Given the description of an element on the screen output the (x, y) to click on. 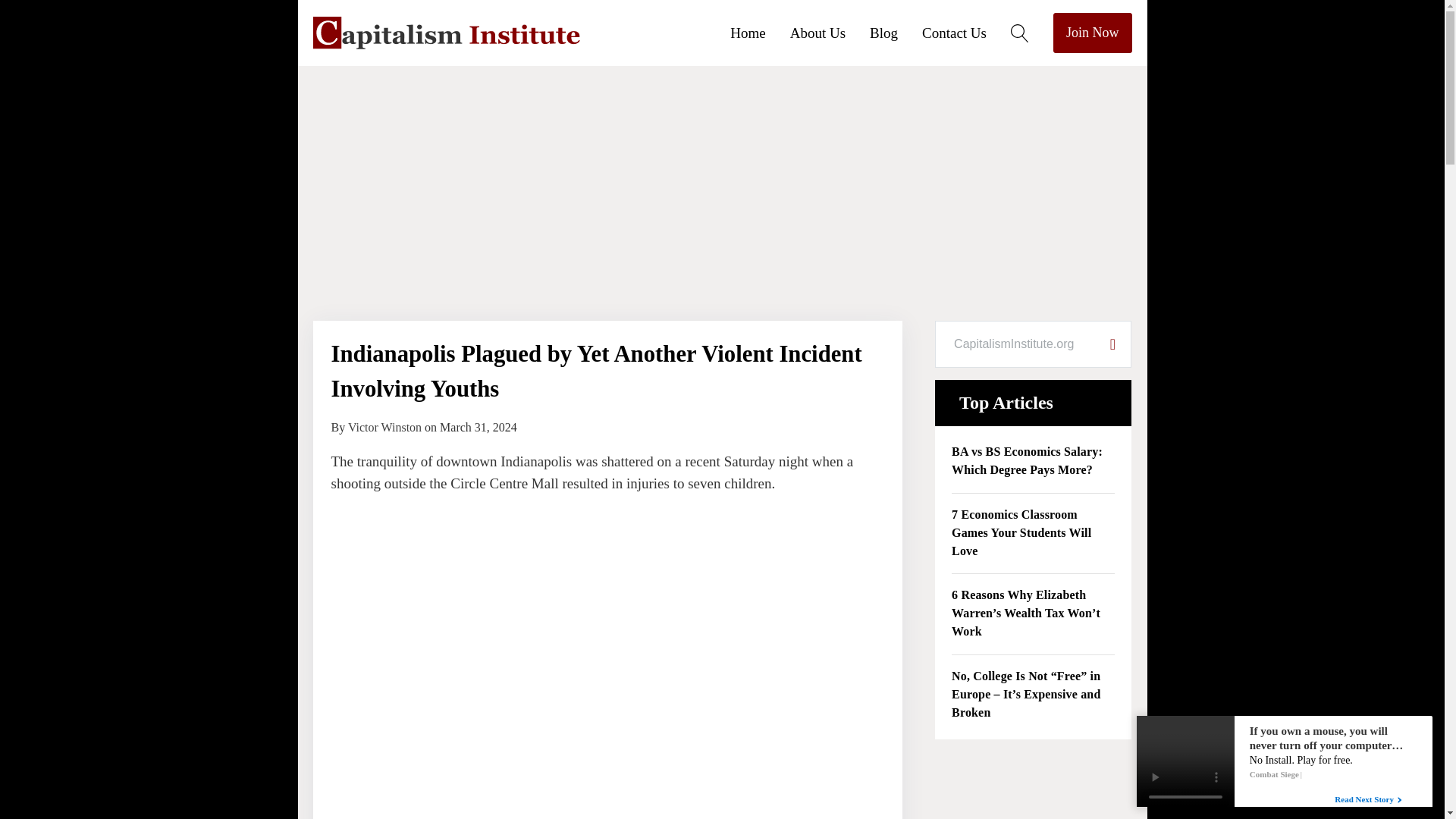
About Us (829, 32)
Join Now (1092, 33)
Victor Winston (384, 427)
Blog (895, 32)
Home (759, 32)
Contact Us (965, 32)
